Given the description of an element on the screen output the (x, y) to click on. 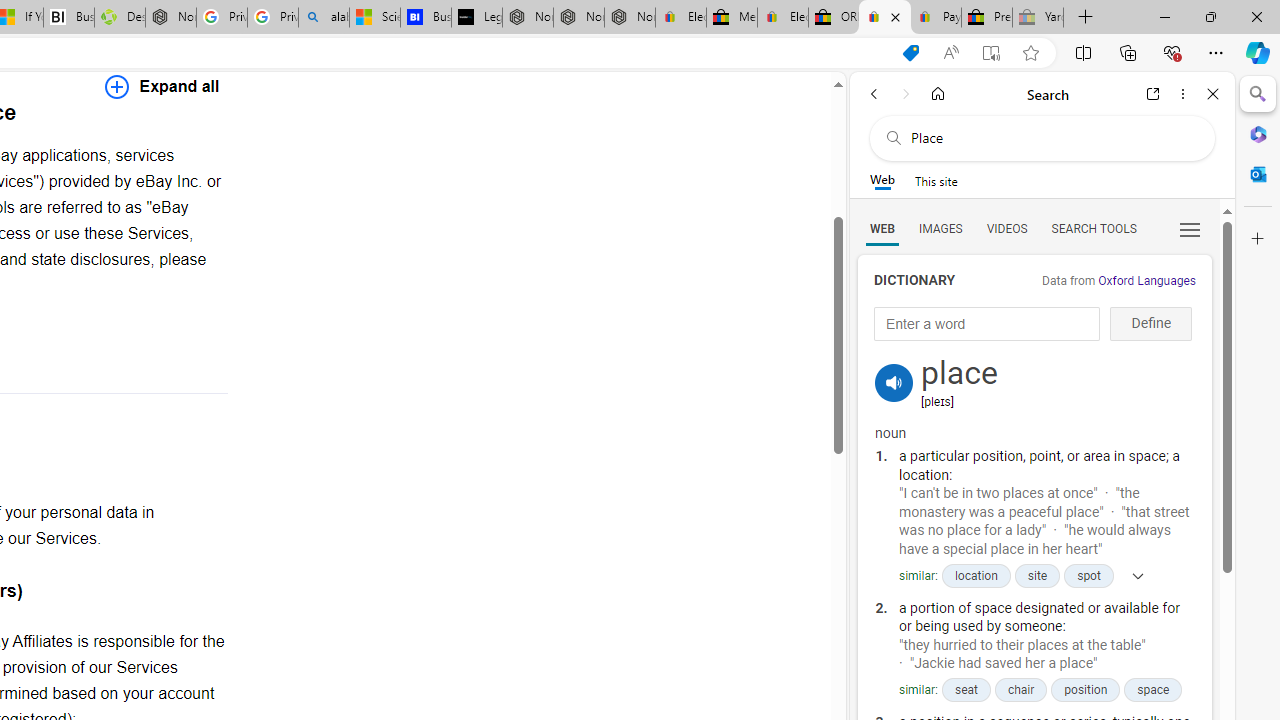
Show more (1131, 574)
space (1152, 690)
site (1037, 575)
Nordace - My Account (170, 17)
Define (1150, 323)
Class: b_serphb (1190, 229)
Enter Immersive Reader (F9) (991, 53)
Search Filter, Search Tools (1093, 228)
This site scope (936, 180)
